Given the description of an element on the screen output the (x, y) to click on. 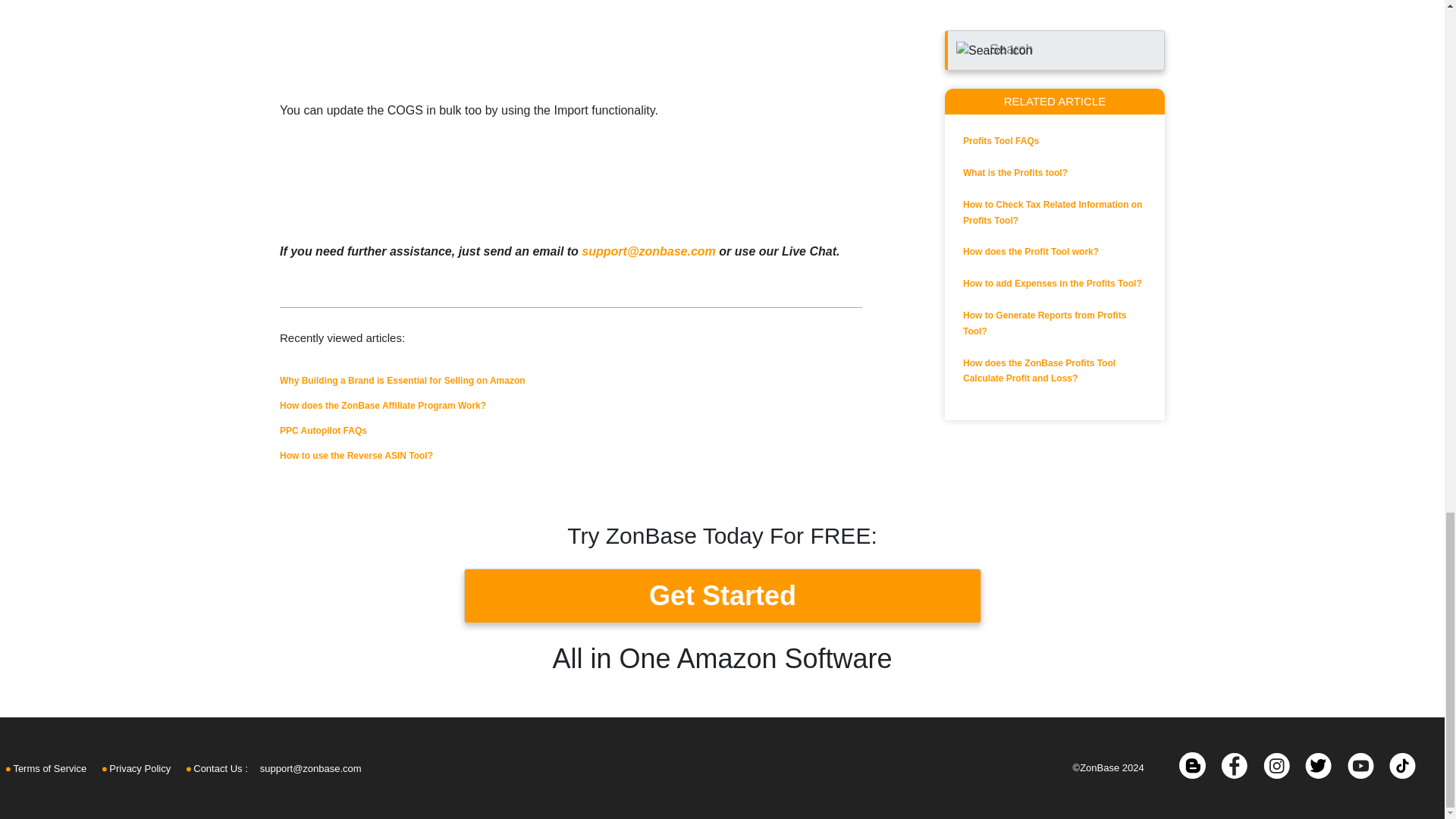
Contact Us : (216, 768)
Get Started (722, 595)
Why Building a Brand is Essential for Selling on Amazon (402, 380)
Privacy Policy (136, 768)
Terms of Service (45, 768)
How does the ZonBase Affiliate Program Work? (382, 405)
How to use the Reverse ASIN Tool? (355, 455)
PPC Autopilot FAQs (322, 430)
